Given the description of an element on the screen output the (x, y) to click on. 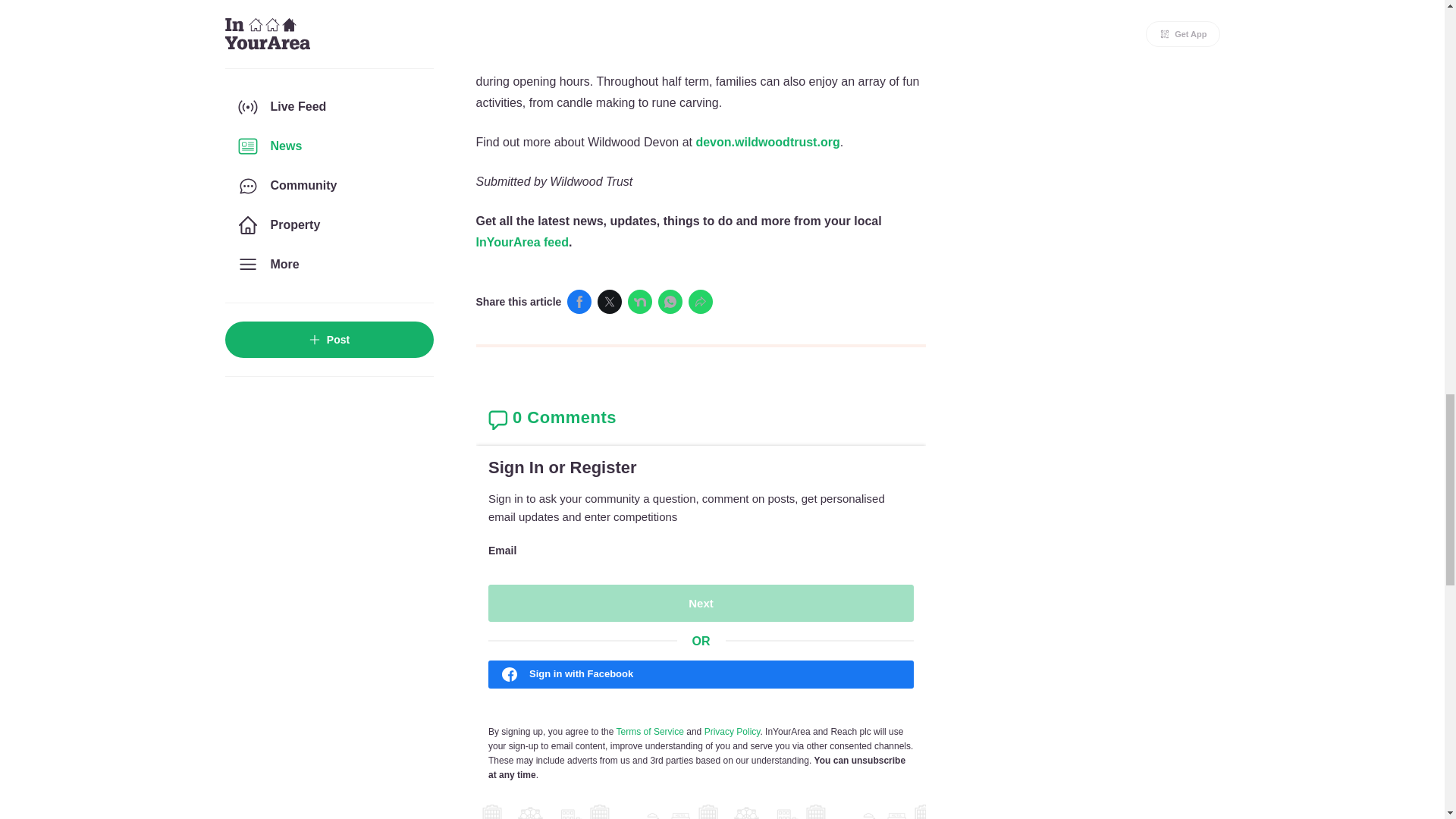
Share to Nextdoor (639, 301)
Share to ... (700, 301)
Share to X (608, 301)
Share to Facebook (579, 301)
Share to Whatsapp (670, 301)
